Given the description of an element on the screen output the (x, y) to click on. 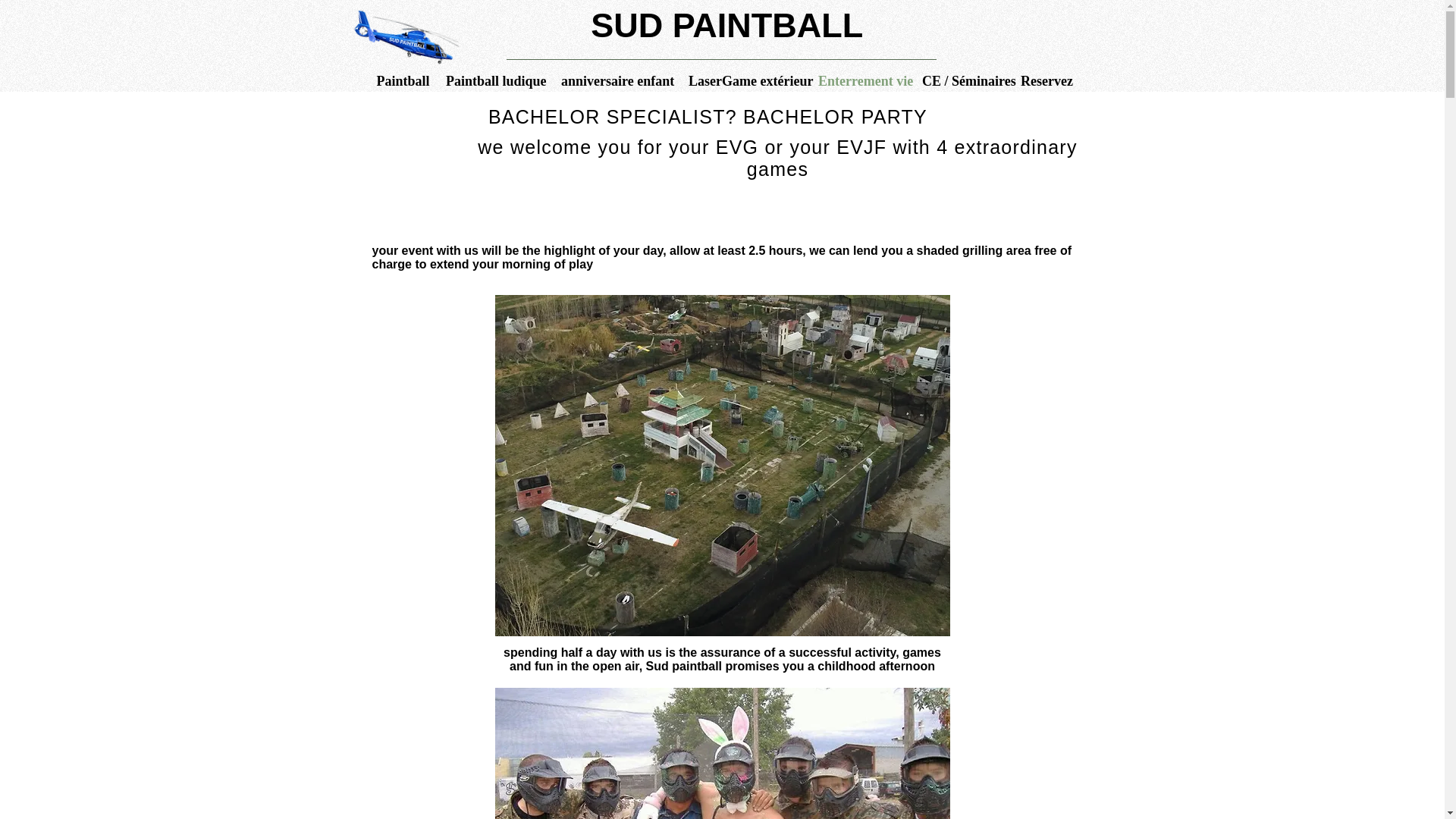
Paintball ludique (495, 80)
Enterrement vie (862, 80)
Reservez (1045, 80)
Paintball (403, 80)
anniversaire enfant (617, 80)
